Given the description of an element on the screen output the (x, y) to click on. 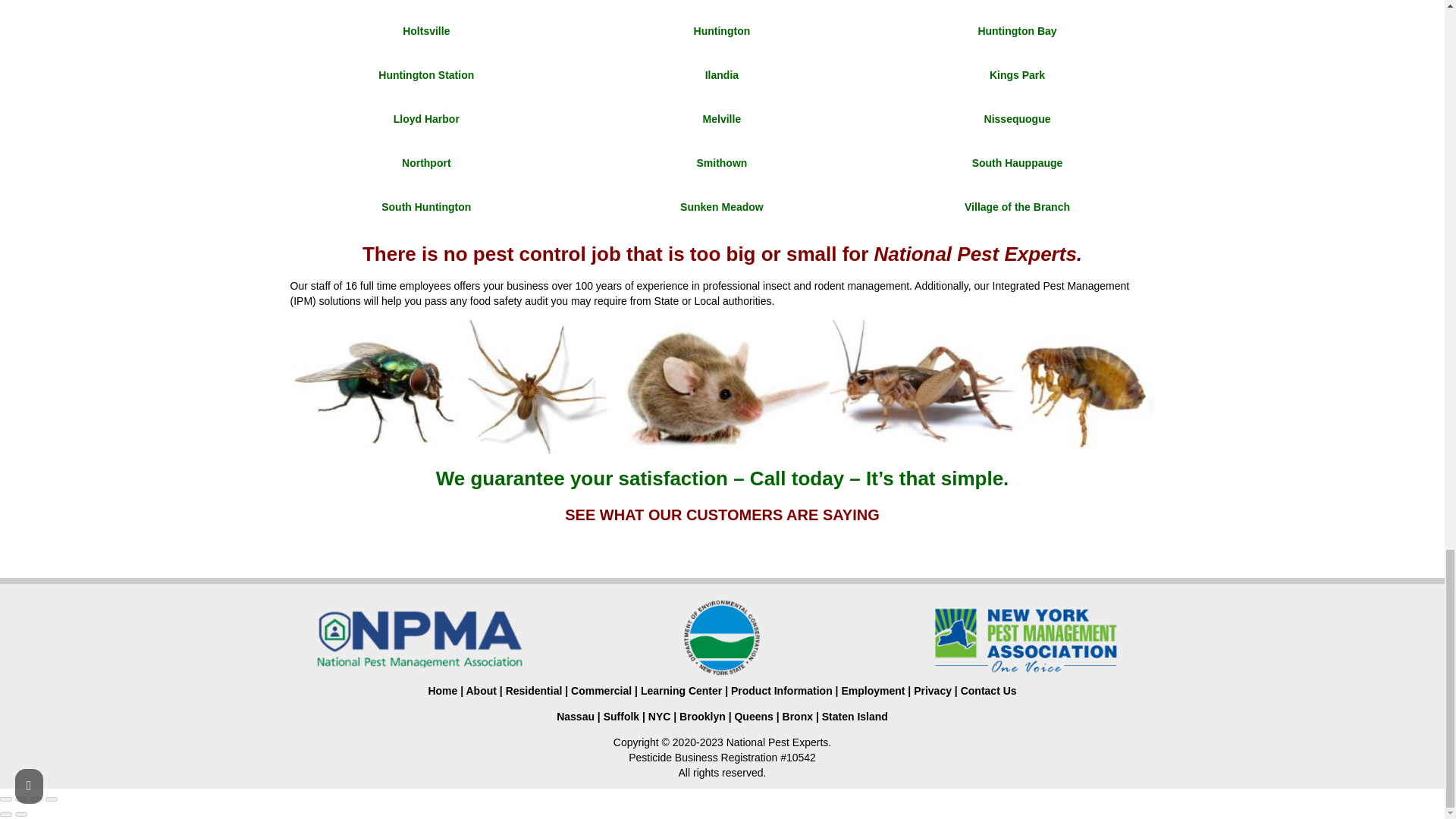
Holtsville Exterminating and Pest Control (426, 30)
Huntington Exterminating and Pest Control (722, 30)
